Given the description of an element on the screen output the (x, y) to click on. 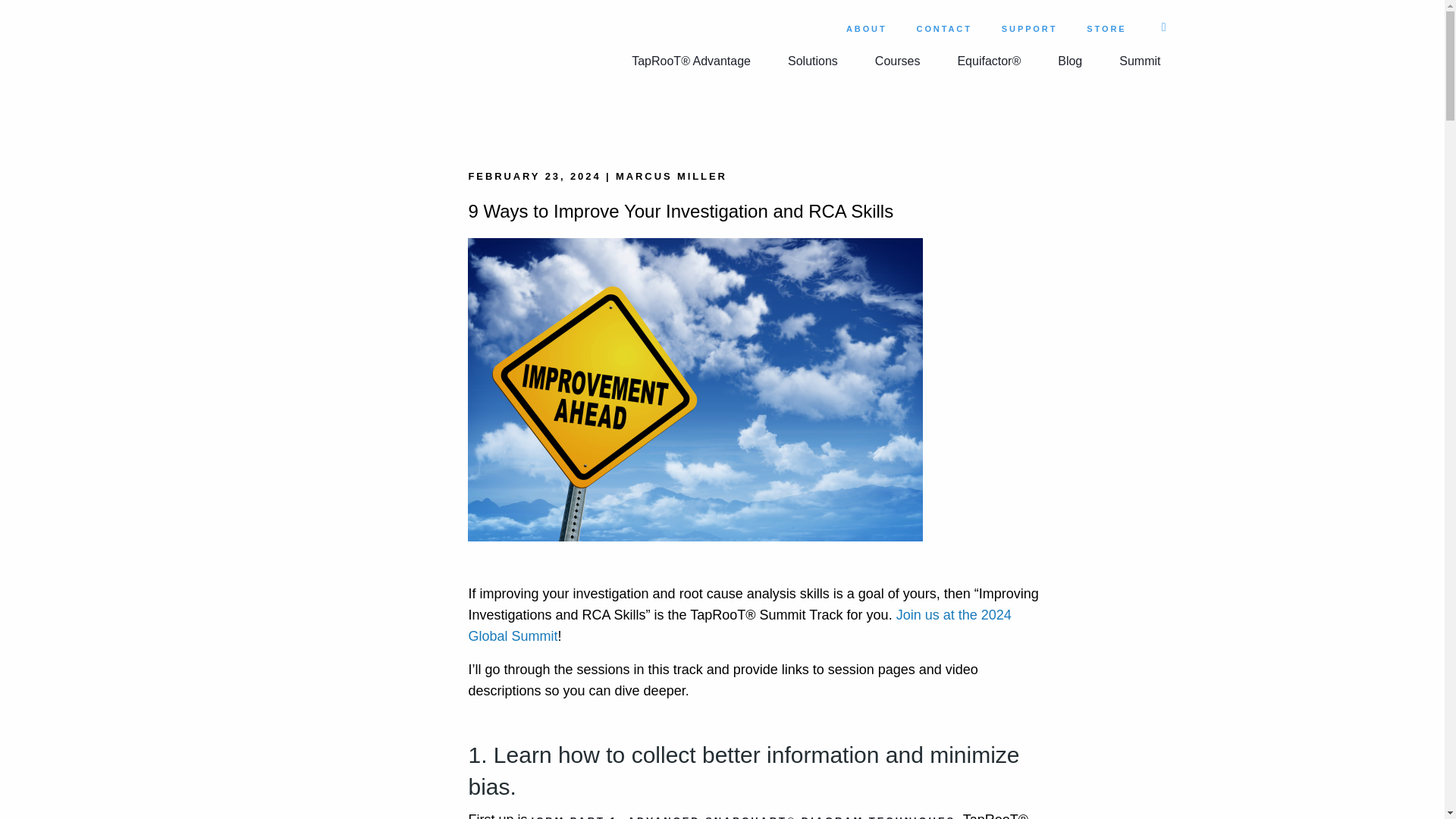
Safety (799, 106)
Process Safety (818, 106)
Implementation (1017, 106)
Quality (800, 106)
Solutions (813, 61)
Pharmaceuticals (1020, 106)
Transportation (1015, 106)
eLearning Pathways (1028, 106)
Retail and eCommerce (1034, 106)
Courses (897, 61)
